Given the description of an element on the screen output the (x, y) to click on. 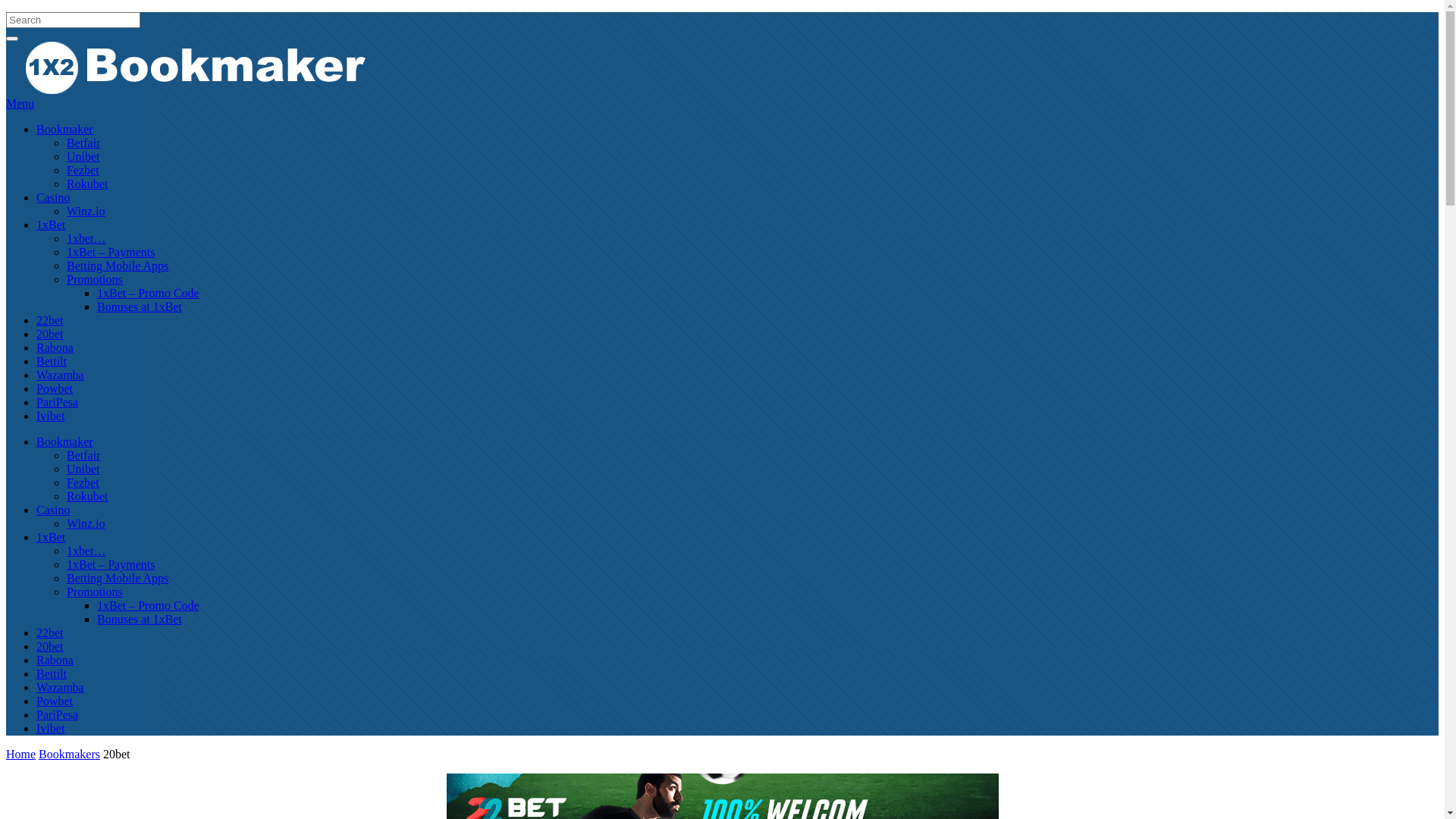
Winz.io Element type: text (85, 523)
Casino Element type: text (52, 197)
Rabona Element type: text (54, 347)
Bookmaker Element type: text (64, 128)
Rabona Element type: text (54, 659)
Bonuses at 1xBet Element type: text (139, 306)
Rokubet Element type: text (86, 495)
Betfair Element type: text (83, 454)
22bet Element type: text (49, 632)
Winz.io Element type: text (85, 210)
Bettilt Element type: text (51, 673)
Fezbet Element type: text (82, 482)
Unibet Element type: text (83, 468)
Unibet Element type: text (83, 156)
PariPesa Element type: text (57, 714)
Powbet Element type: text (54, 388)
1xBet Element type: text (50, 224)
Ivibet Element type: text (50, 415)
Betting Mobile Apps Element type: text (117, 265)
Promotions Element type: text (94, 591)
1xBet Element type: text (50, 536)
Home Element type: text (20, 753)
Fezbet Element type: text (82, 169)
Wazamba Element type: text (60, 686)
Rokubet Element type: text (86, 183)
Casino Element type: text (52, 509)
20bet Element type: text (49, 333)
Betting Mobile Apps Element type: text (117, 577)
Betfair Element type: text (83, 142)
Bookmaker Element type: text (64, 441)
Powbet Element type: text (54, 700)
Menu Element type: text (722, 103)
Bonuses at 1xBet Element type: text (139, 618)
20bet Element type: text (49, 646)
22bet Element type: text (49, 319)
Promotions Element type: text (94, 279)
Wazamba Element type: text (60, 374)
Bettilt Element type: text (51, 360)
PariPesa Element type: text (57, 401)
Ivibet Element type: text (50, 727)
Bookmakers Element type: text (69, 753)
